Given the description of an element on the screen output the (x, y) to click on. 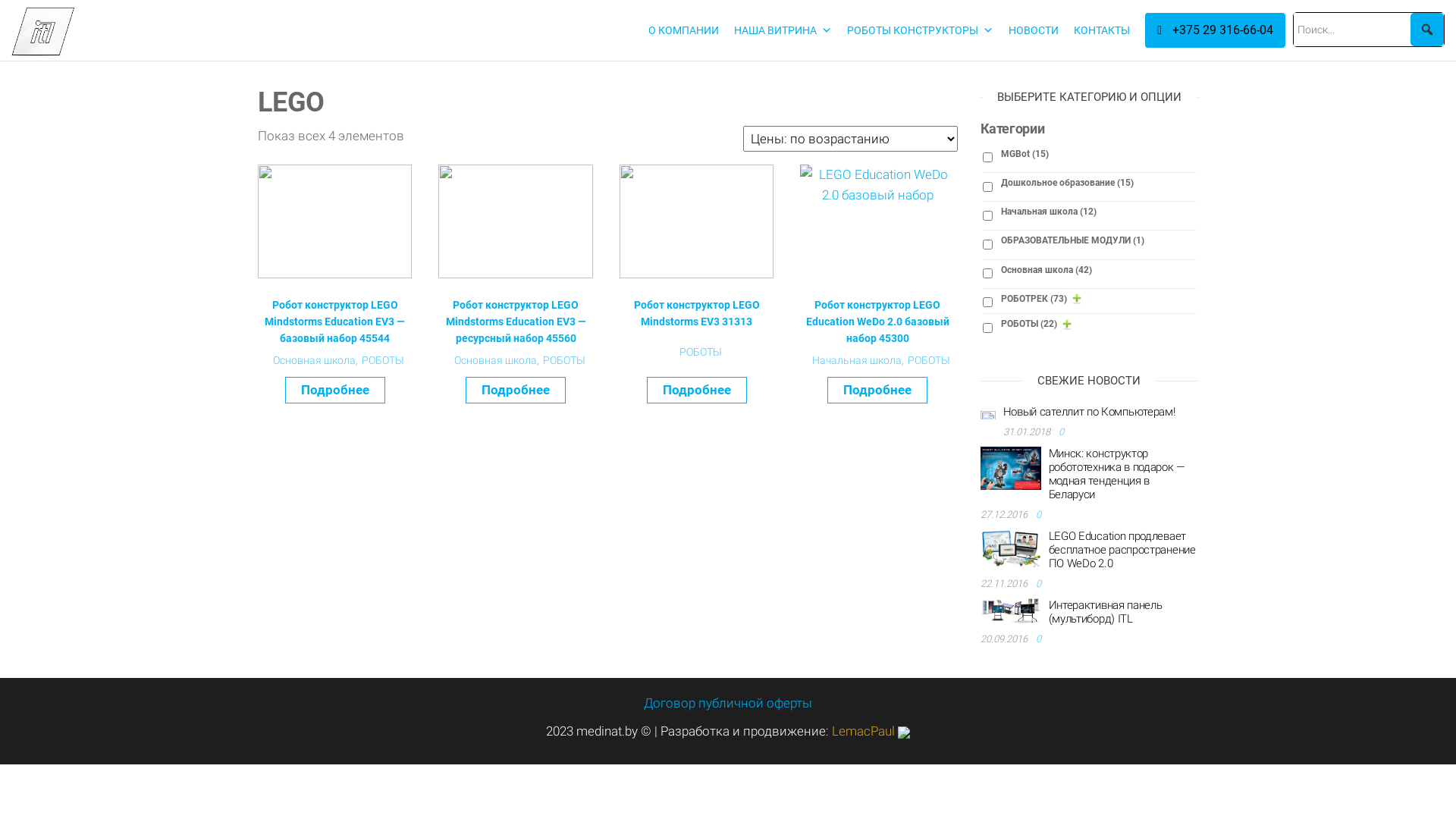
+375 29 316-66-04 Element type: text (1211, 29)
0 Element type: text (1040, 583)
0 Element type: text (1040, 514)
+375 29 316-66-04 Element type: text (1215, 30)
0 Element type: text (1063, 431)
Search Element type: text (32, 23)
0 Element type: text (1040, 638)
LemacPaul Element type: text (870, 730)
